Given the description of an element on the screen output the (x, y) to click on. 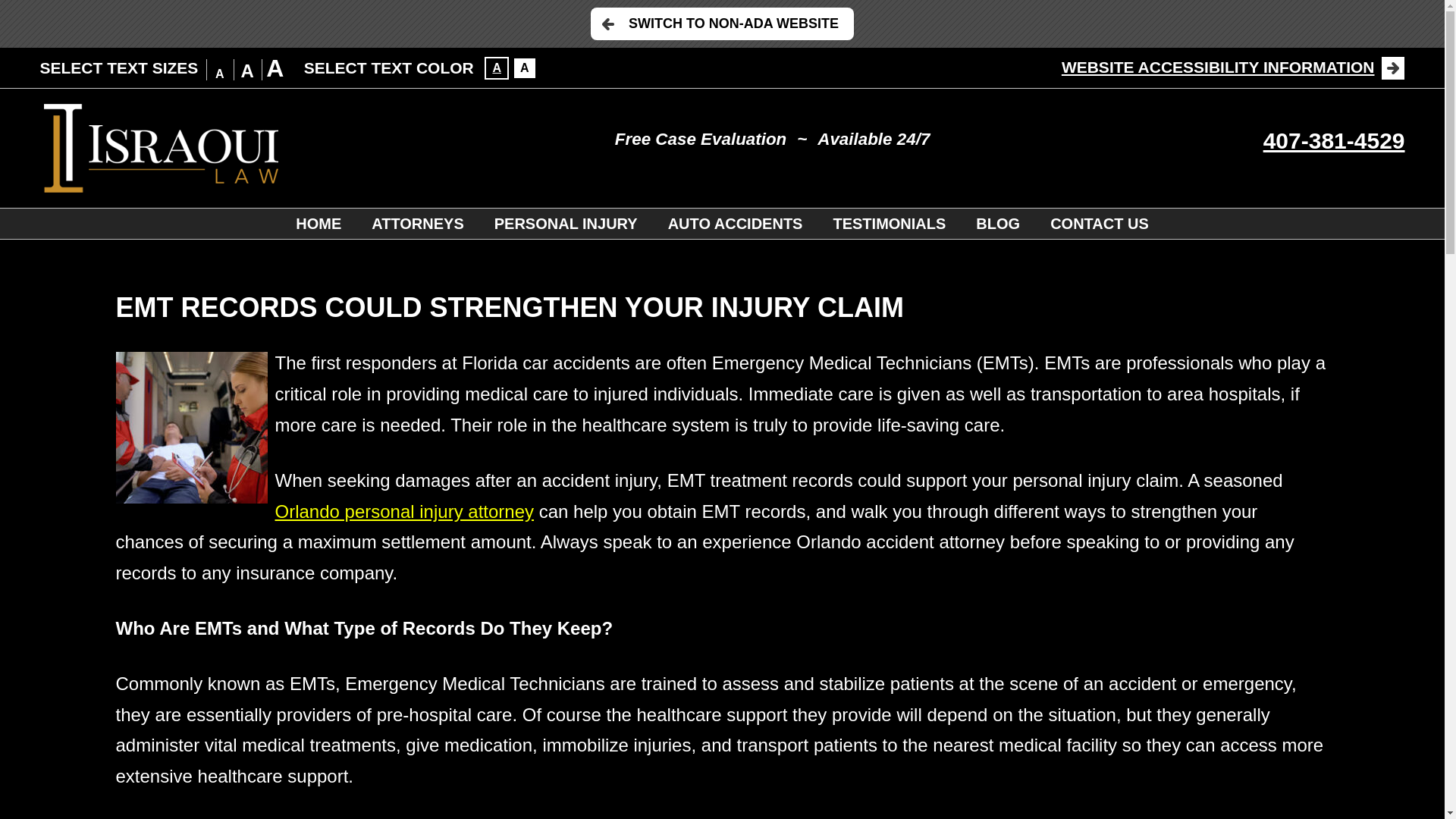
HOME (318, 223)
A (524, 67)
A (496, 67)
Invert Colors (496, 67)
Click to view external accessibility article (1233, 67)
PERSONAL INJURY (565, 223)
ATTORNEYS (417, 223)
407-381-4529 (1334, 140)
Invert Colors (524, 67)
WEBSITE ACCESSIBILITY INFORMATION (1233, 67)
